Given the description of an element on the screen output the (x, y) to click on. 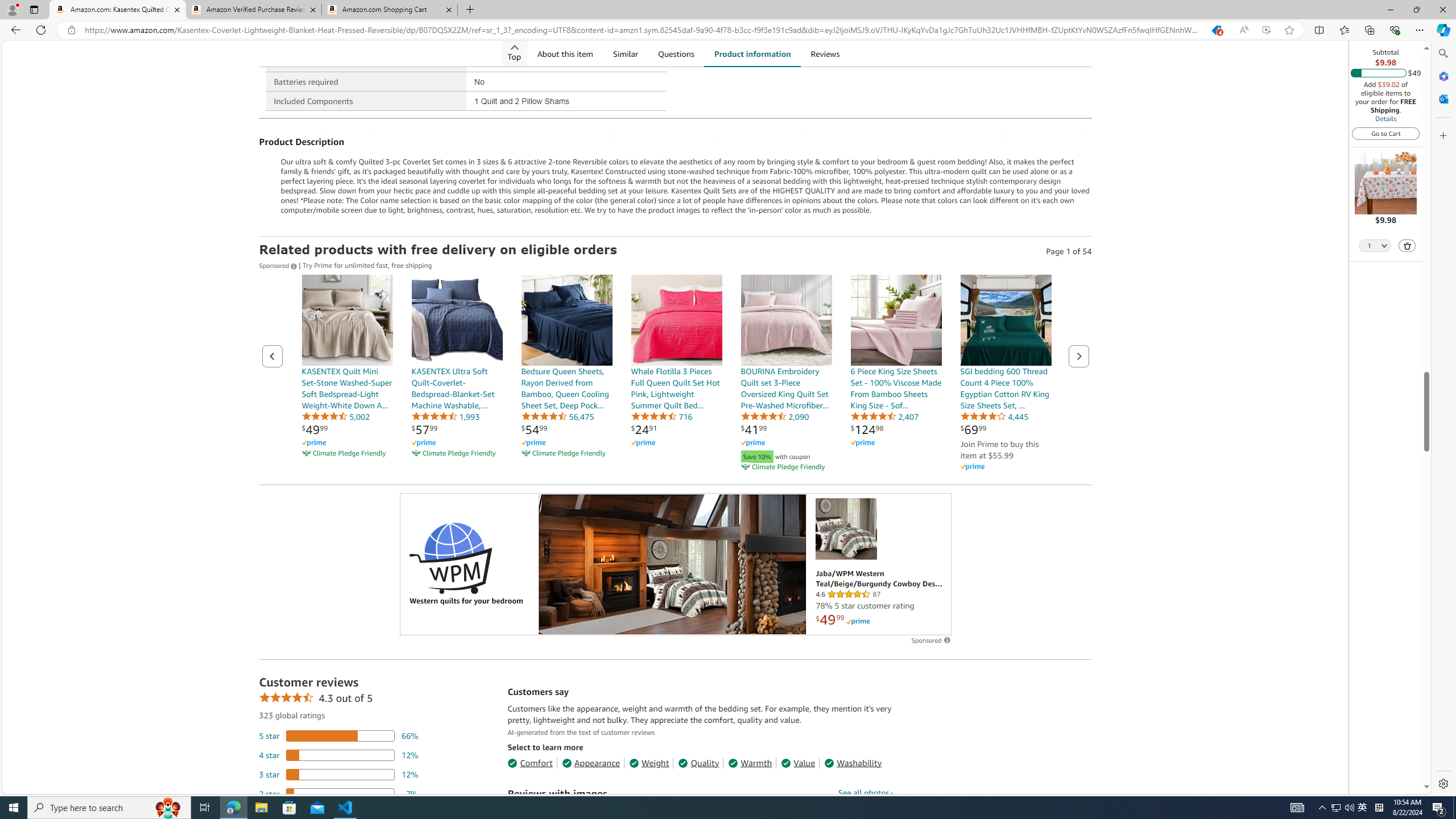
2,407 (884, 416)
Amazon Verified Purchase Reviews - Amazon Customer Service (253, 9)
Weight (648, 762)
Save 10% with coupon (786, 454)
716 (661, 416)
$69.99 (973, 429)
$24.91 (644, 429)
Previous page of related Sponsored Products (272, 355)
4,445 (994, 416)
$41.99 (754, 429)
